Given the description of an element on the screen output the (x, y) to click on. 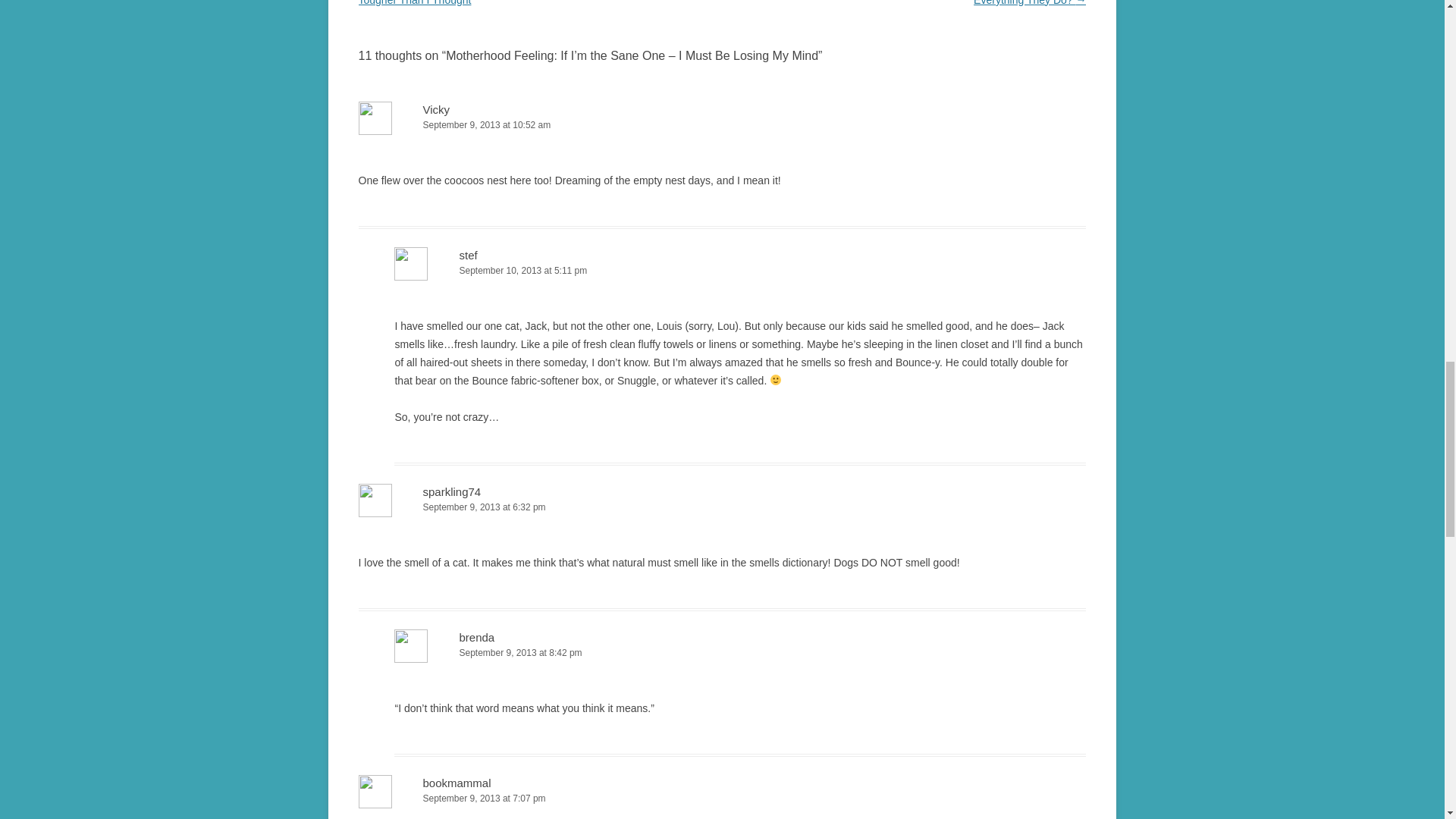
sparkling74 (452, 491)
Vicky (436, 109)
September 9, 2013 at 6:32 pm (722, 507)
September 9, 2013 at 10:52 am (722, 125)
bookmammal (457, 782)
September 9, 2013 at 7:07 pm (722, 798)
September 10, 2013 at 5:11 pm (740, 270)
stef (467, 254)
September 9, 2013 at 8:42 pm (740, 652)
